Given the description of an element on the screen output the (x, y) to click on. 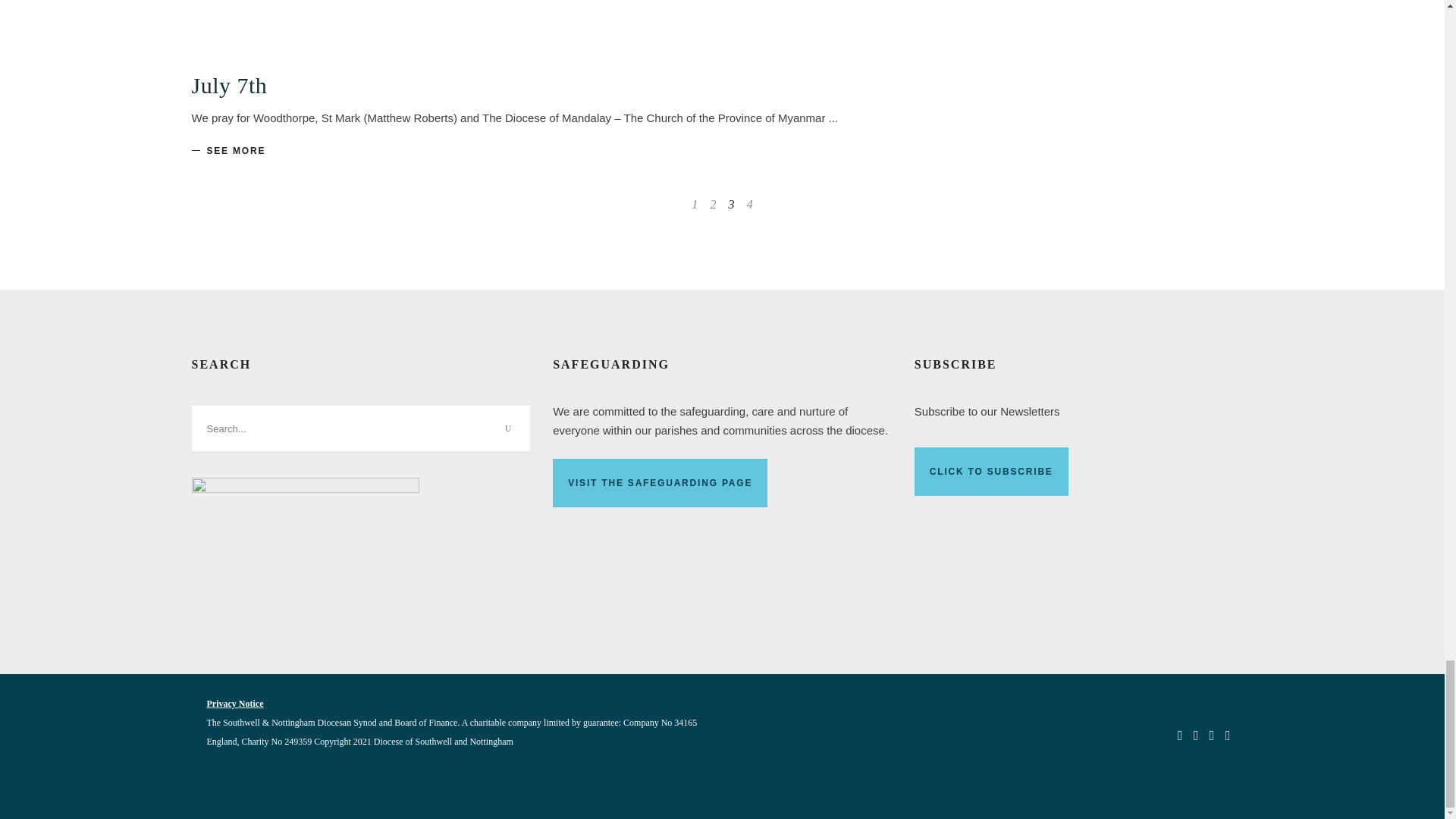
July 7th (228, 84)
Search for: (359, 428)
